Given the description of an element on the screen output the (x, y) to click on. 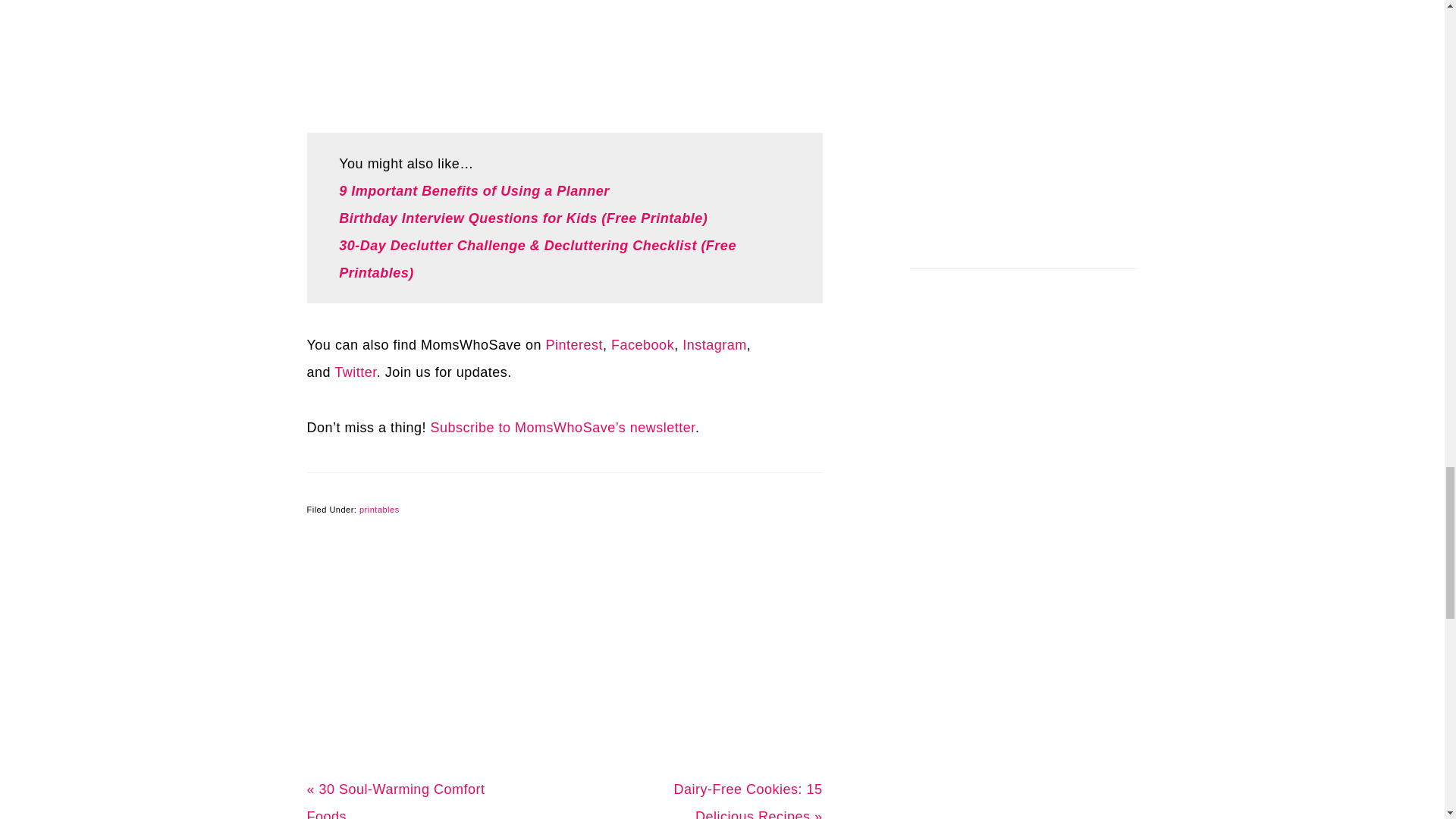
Perpetual Birthday Calendar Page Printable (564, 52)
